Given the description of an element on the screen output the (x, y) to click on. 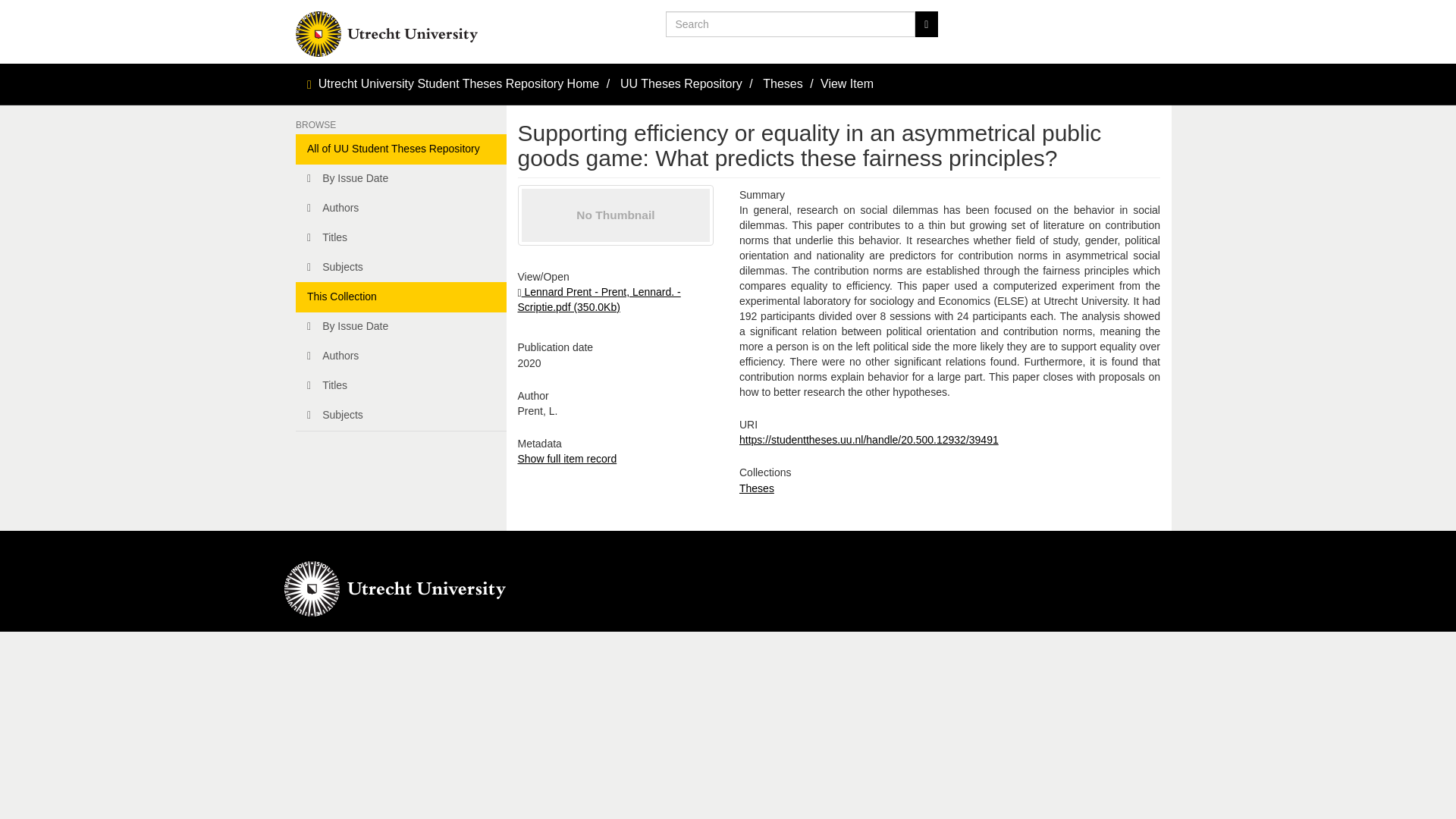
Subjects (400, 267)
Authors (400, 356)
This Collection (400, 296)
Show full item record (565, 458)
Titles (400, 237)
Theses (756, 488)
Utrecht University Student Theses Repository Home (458, 83)
All of UU Student Theses Repository (400, 149)
Titles (400, 386)
UU Theses Repository (681, 83)
